Given the description of an element on the screen output the (x, y) to click on. 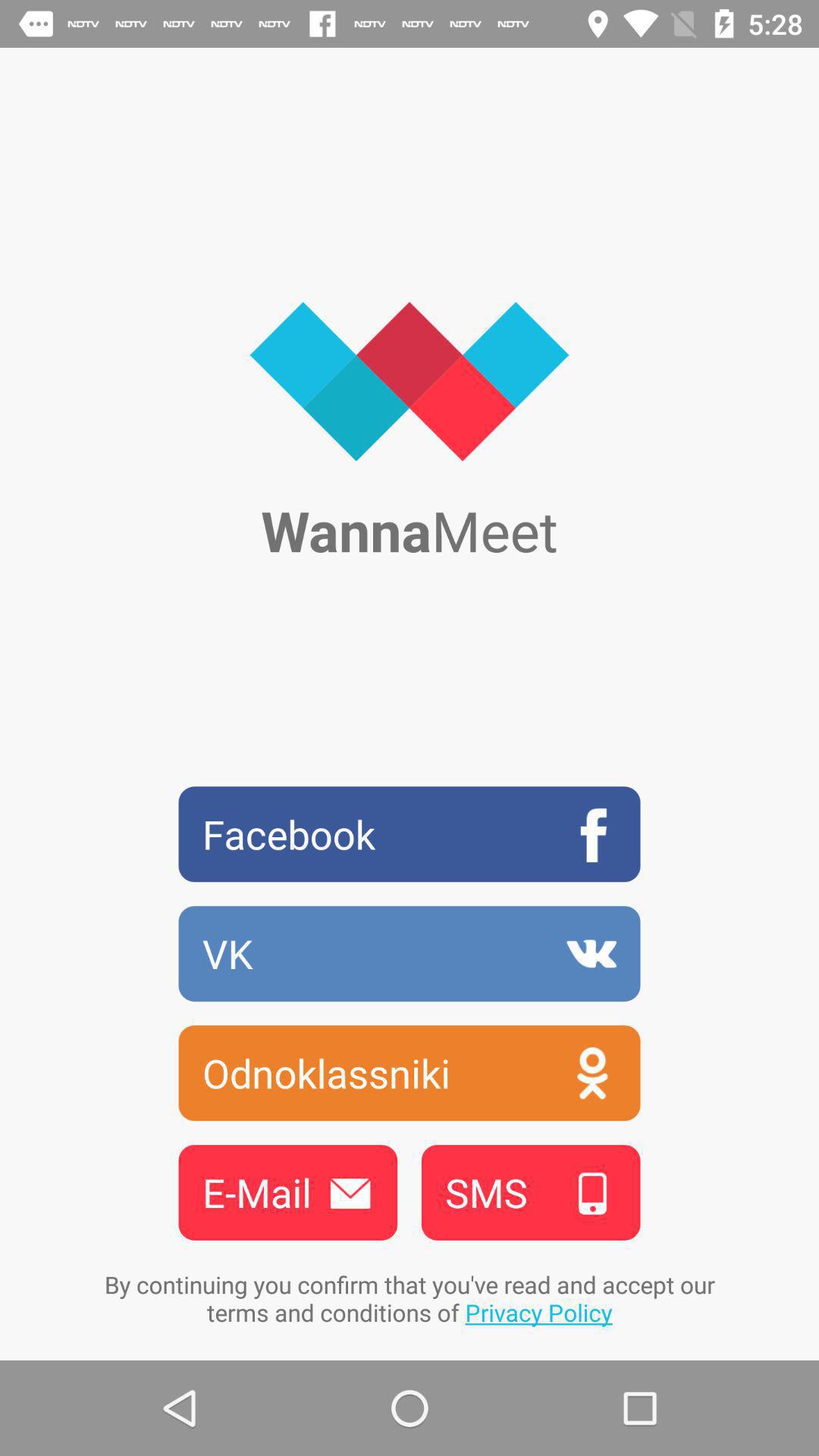
flip until the odnoklassniki item (409, 1072)
